Given the description of an element on the screen output the (x, y) to click on. 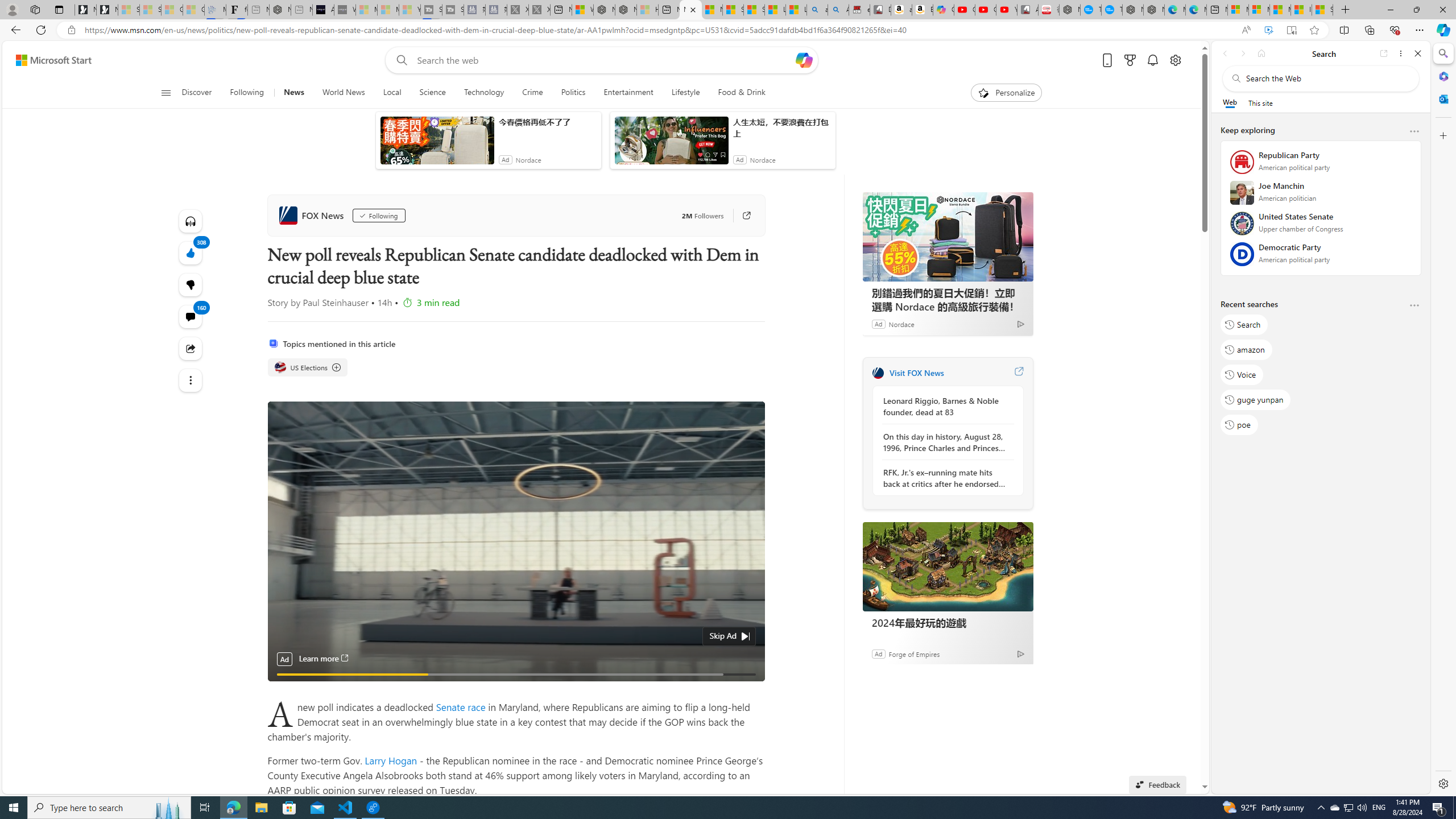
Streaming Coverage | T3 - Sleeping (431, 9)
Class: button-glyph (165, 92)
Science (432, 92)
